Given the description of an element on the screen output the (x, y) to click on. 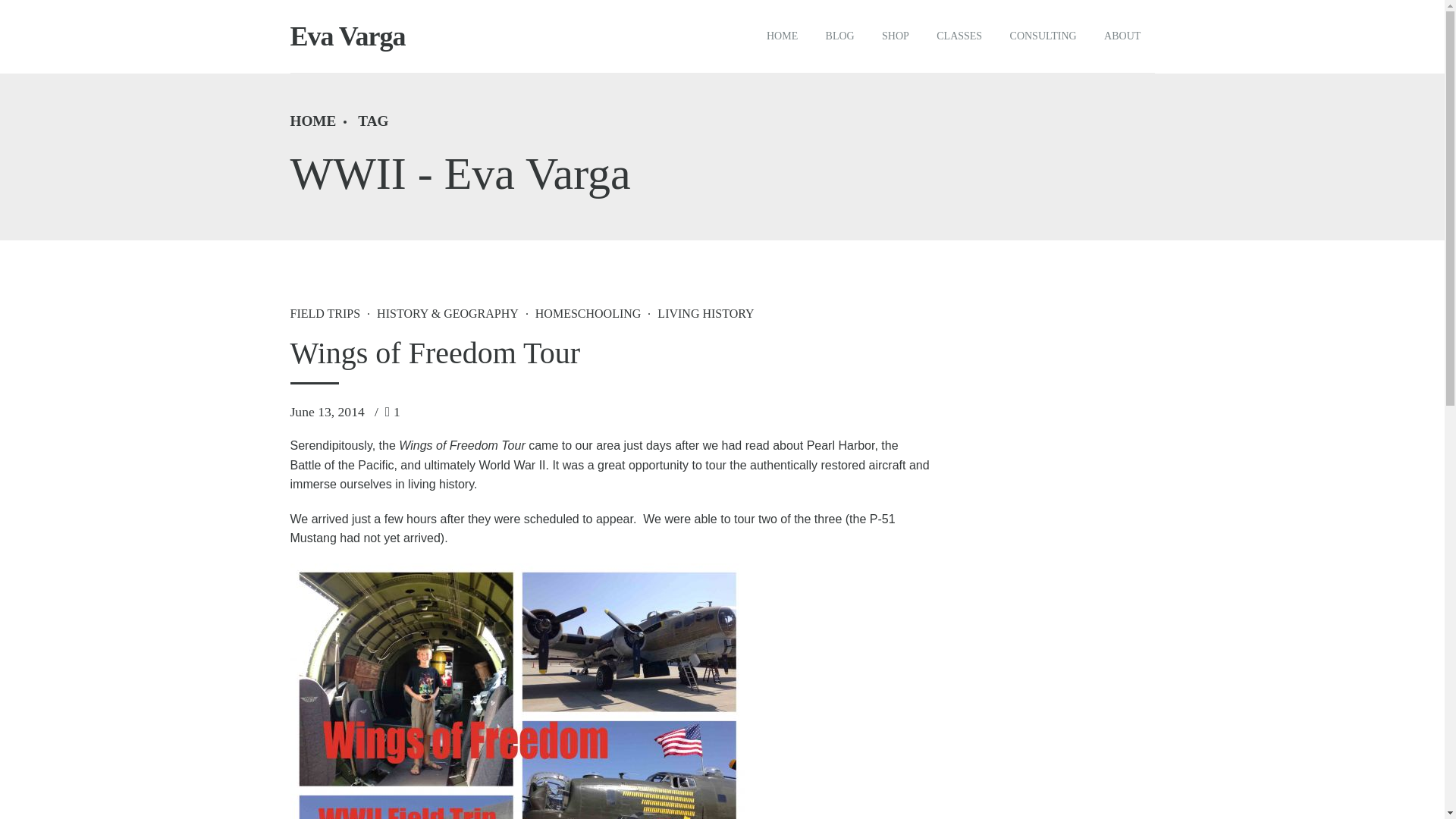
HOMESCHOOLING (580, 313)
BLOG (838, 36)
HOME (312, 121)
SHOP (895, 36)
FIELD TRIPS (324, 313)
HOME (782, 36)
Eva Varga (346, 36)
LIVING HISTORY (697, 313)
CONSULTING (1042, 36)
CLASSES (959, 36)
